Given the description of an element on the screen output the (x, y) to click on. 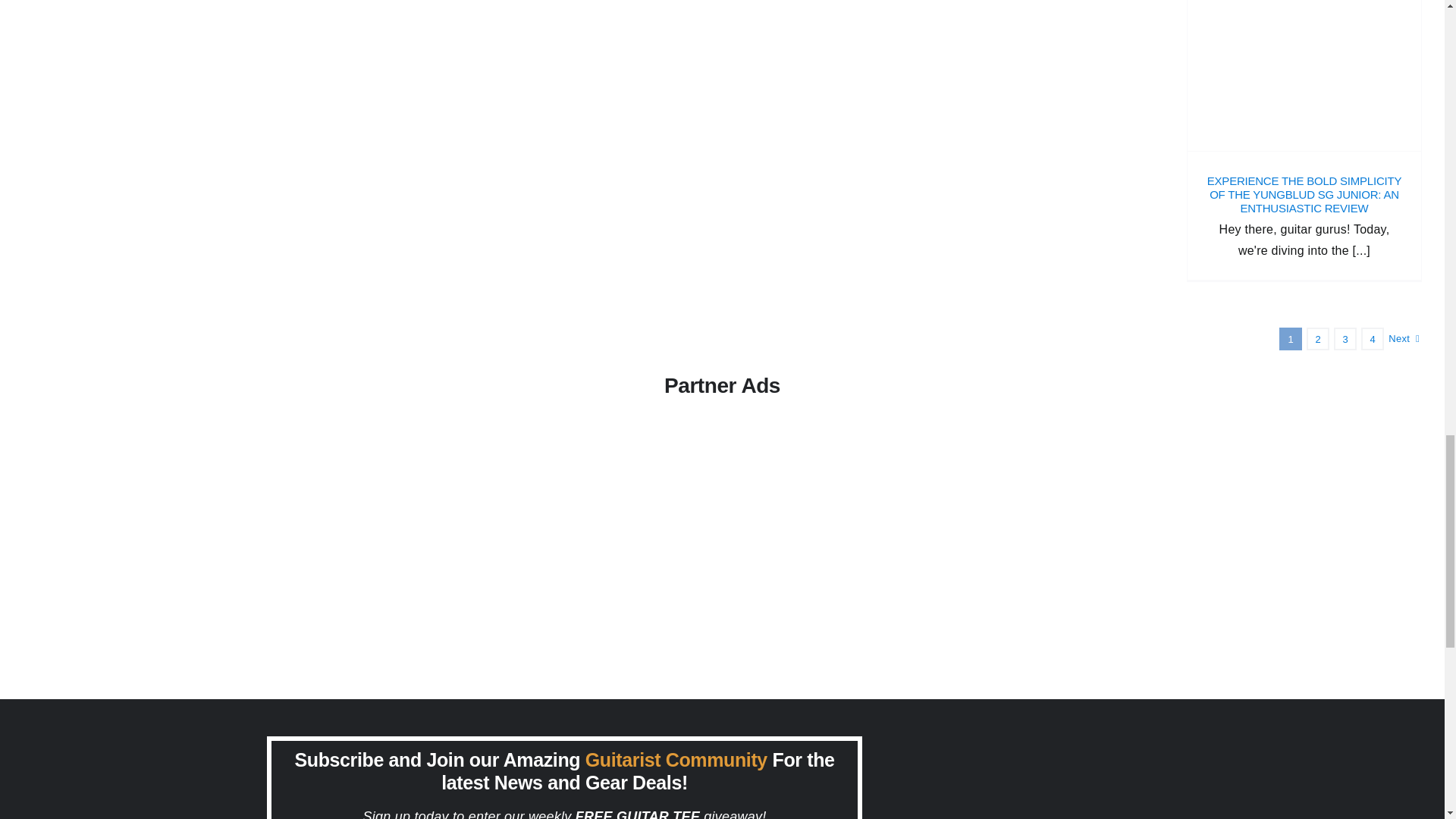
Yungblud SG Junior (1304, 75)
